Given the description of an element on the screen output the (x, y) to click on. 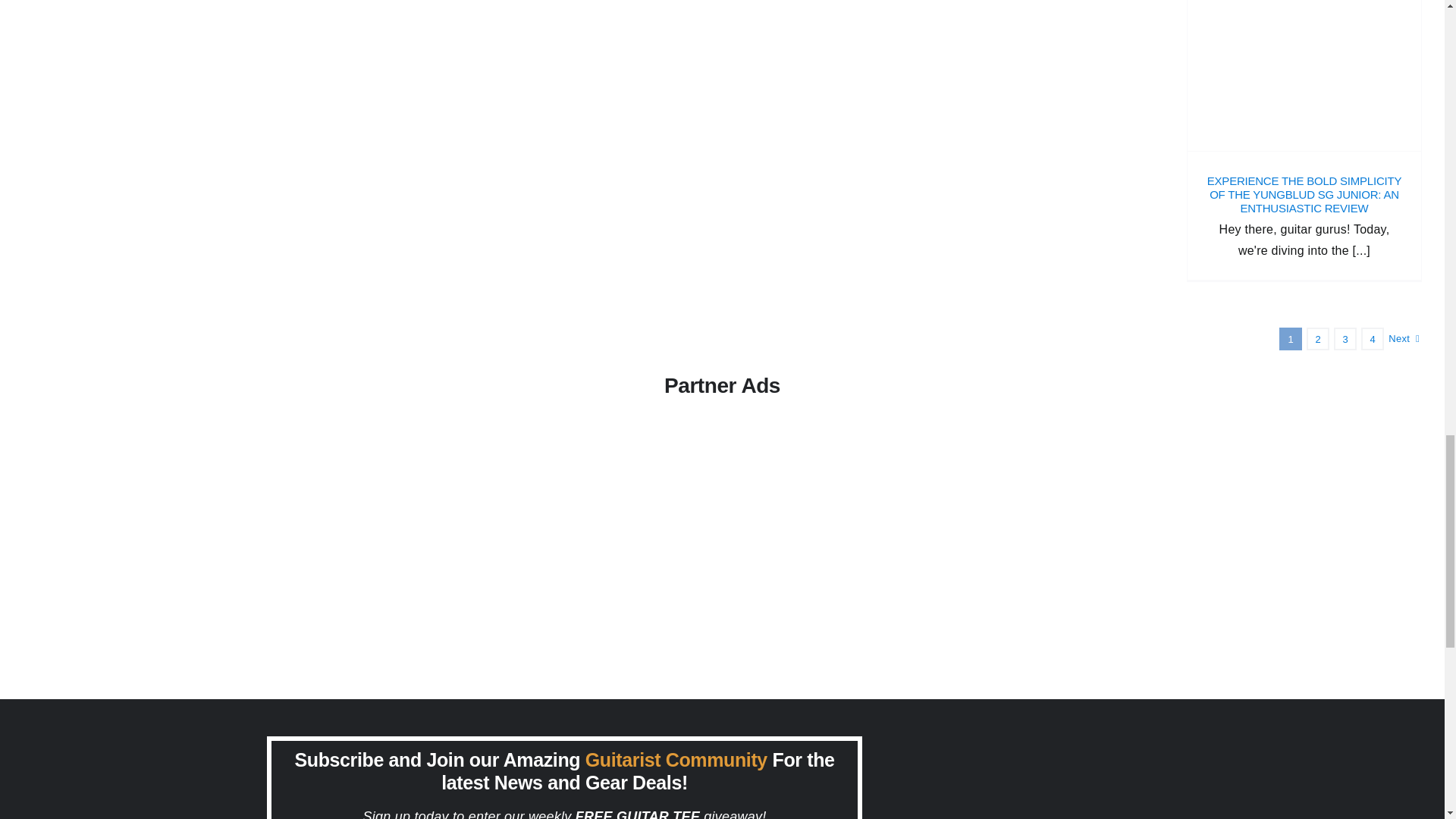
Yungblud SG Junior (1304, 75)
